Given the description of an element on the screen output the (x, y) to click on. 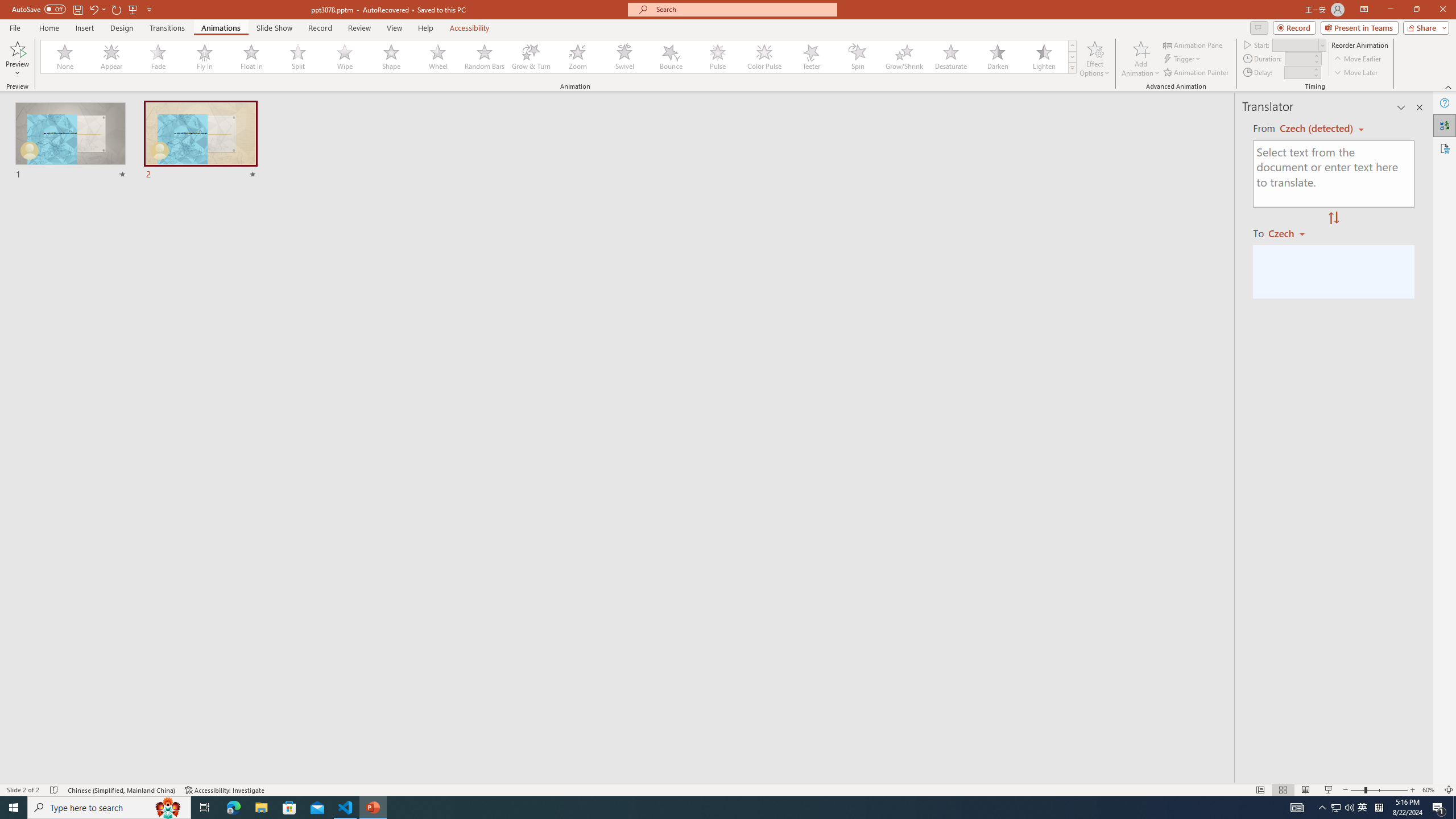
No Problems (121, 766)
Manage (76, 712)
Manage (76, 734)
